Given the description of an element on the screen output the (x, y) to click on. 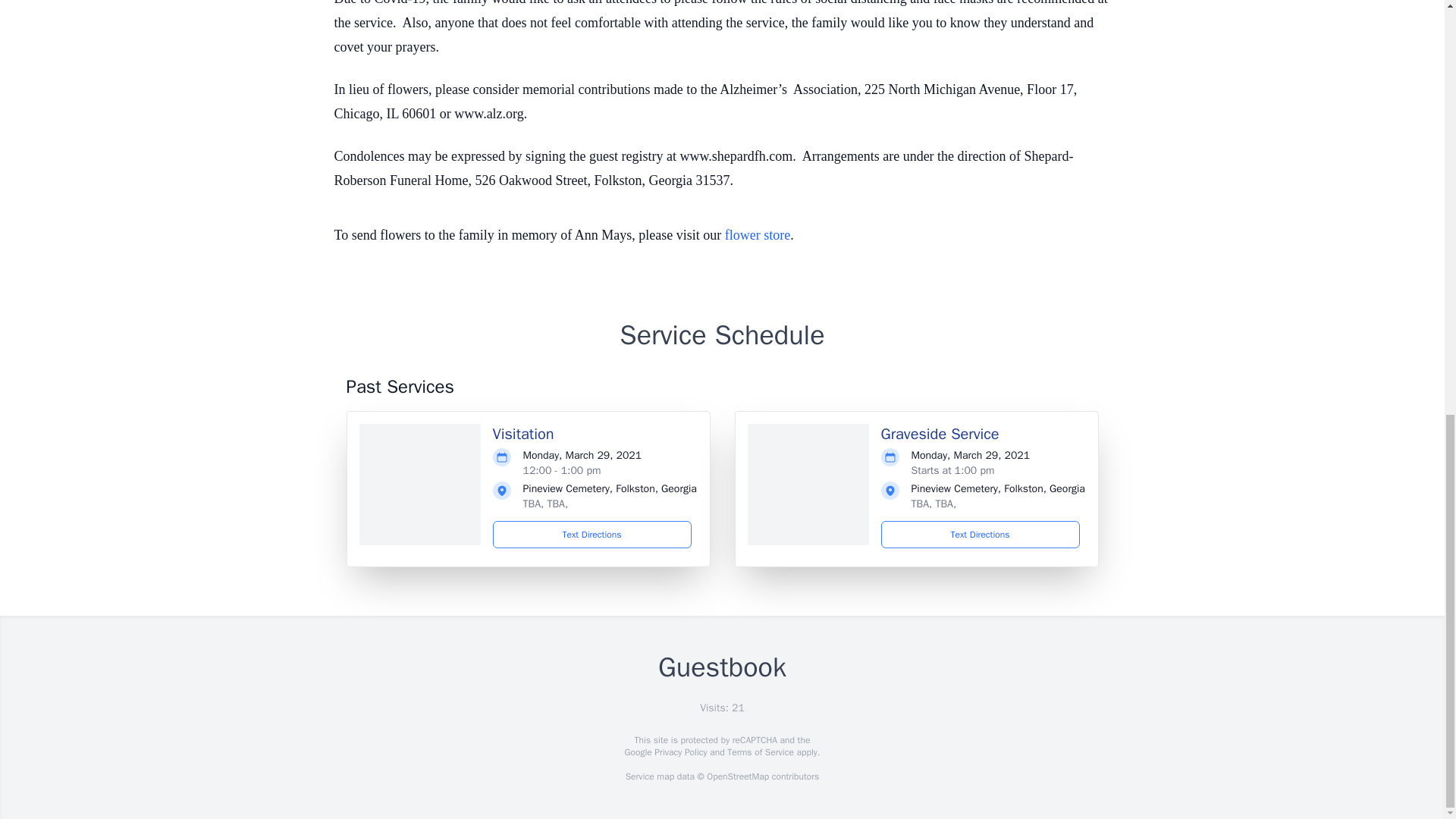
TBA, TBA, (545, 503)
Text Directions (980, 533)
Privacy Policy (679, 752)
TBA, TBA, (933, 503)
flower store (757, 234)
OpenStreetMap (737, 776)
Text Directions (592, 533)
Terms of Service (759, 752)
